Given the description of an element on the screen output the (x, y) to click on. 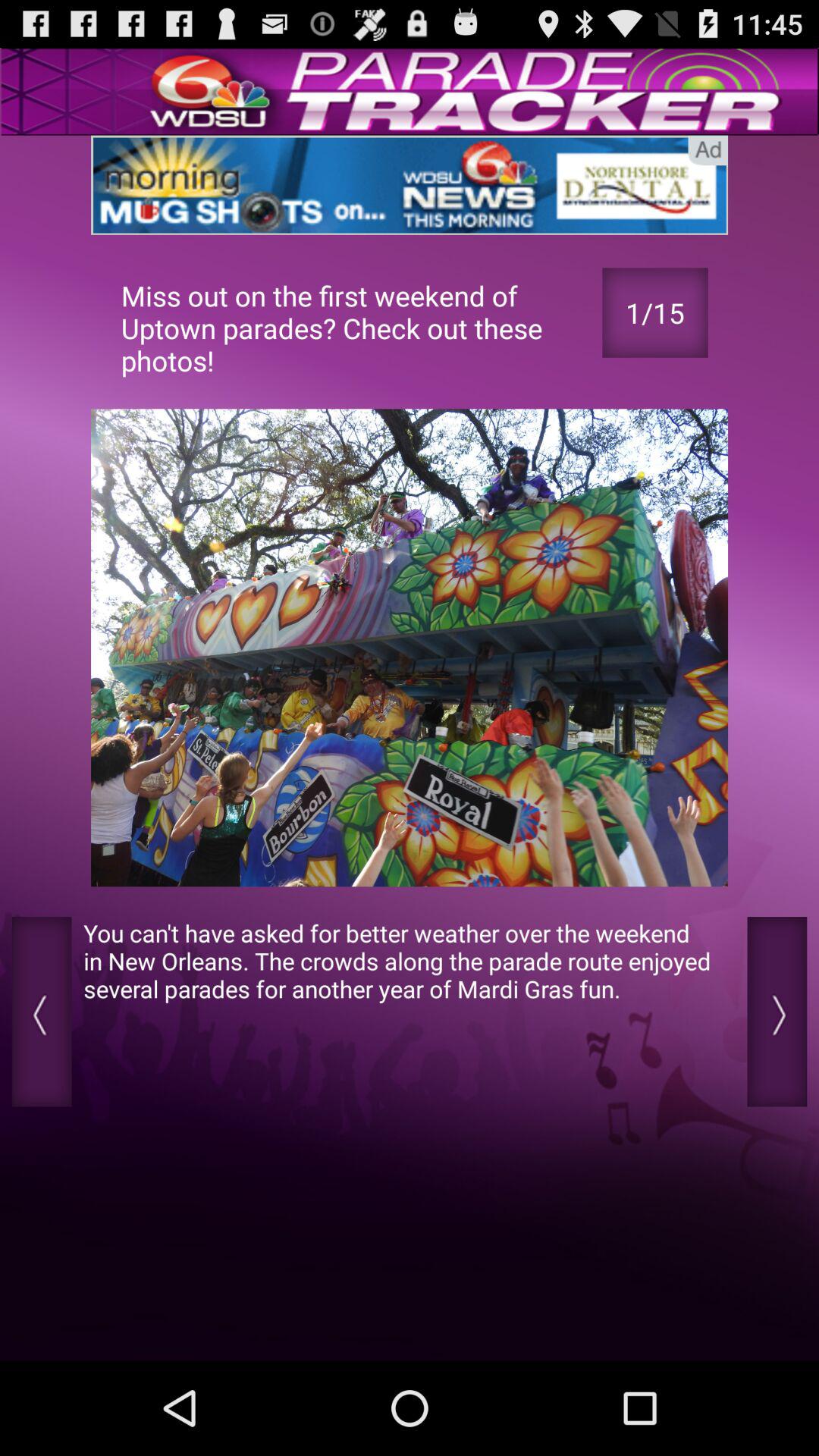
go to previous (41, 1011)
